Given the description of an element on the screen output the (x, y) to click on. 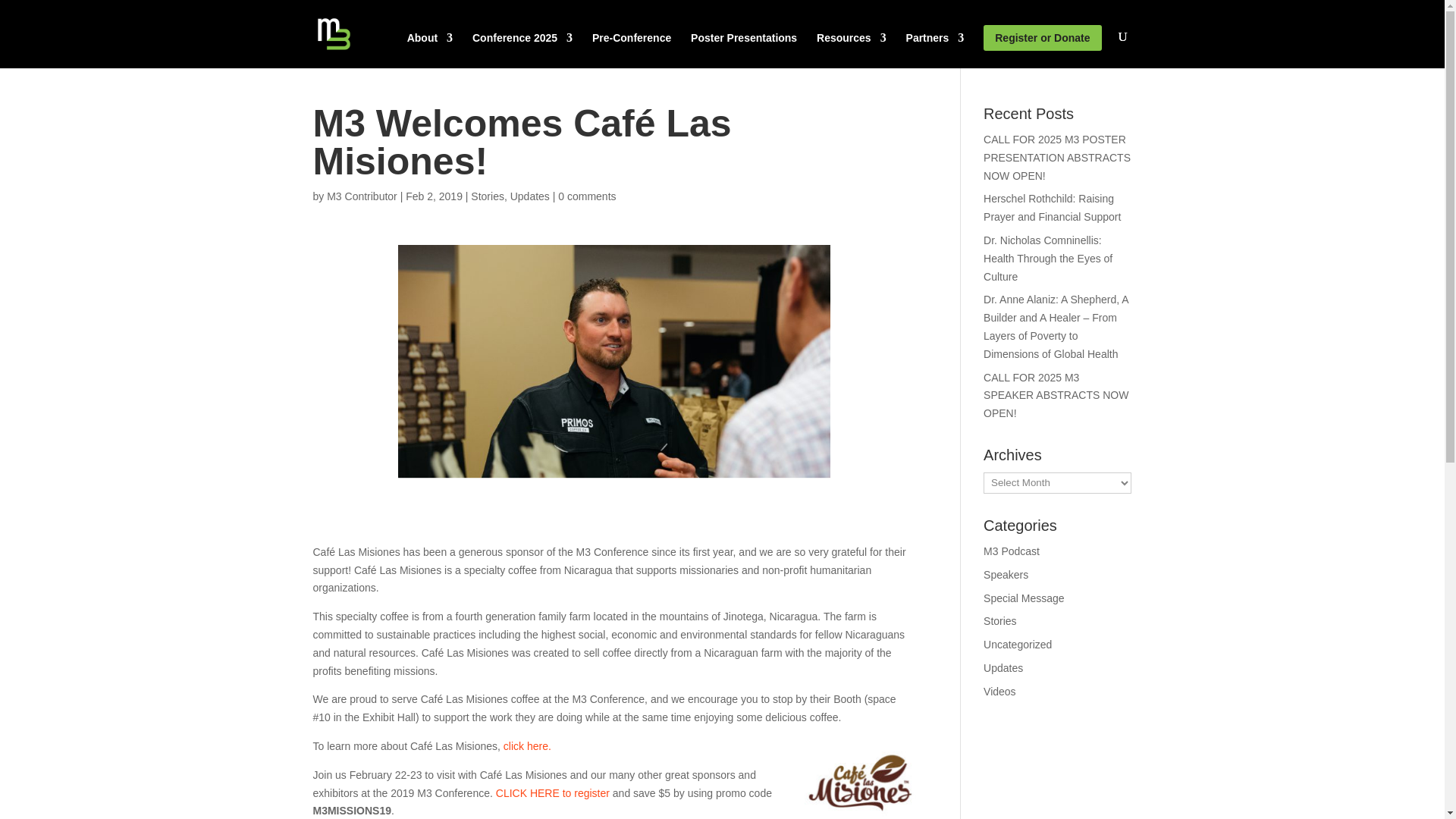
Register or Donate (1042, 37)
Posts by M3 Contributor (361, 196)
Poster Presentations (743, 49)
Pre-Conference (631, 49)
About (429, 49)
Resources (851, 49)
Conference 2025 (521, 49)
Partners (934, 49)
